Given the description of an element on the screen output the (x, y) to click on. 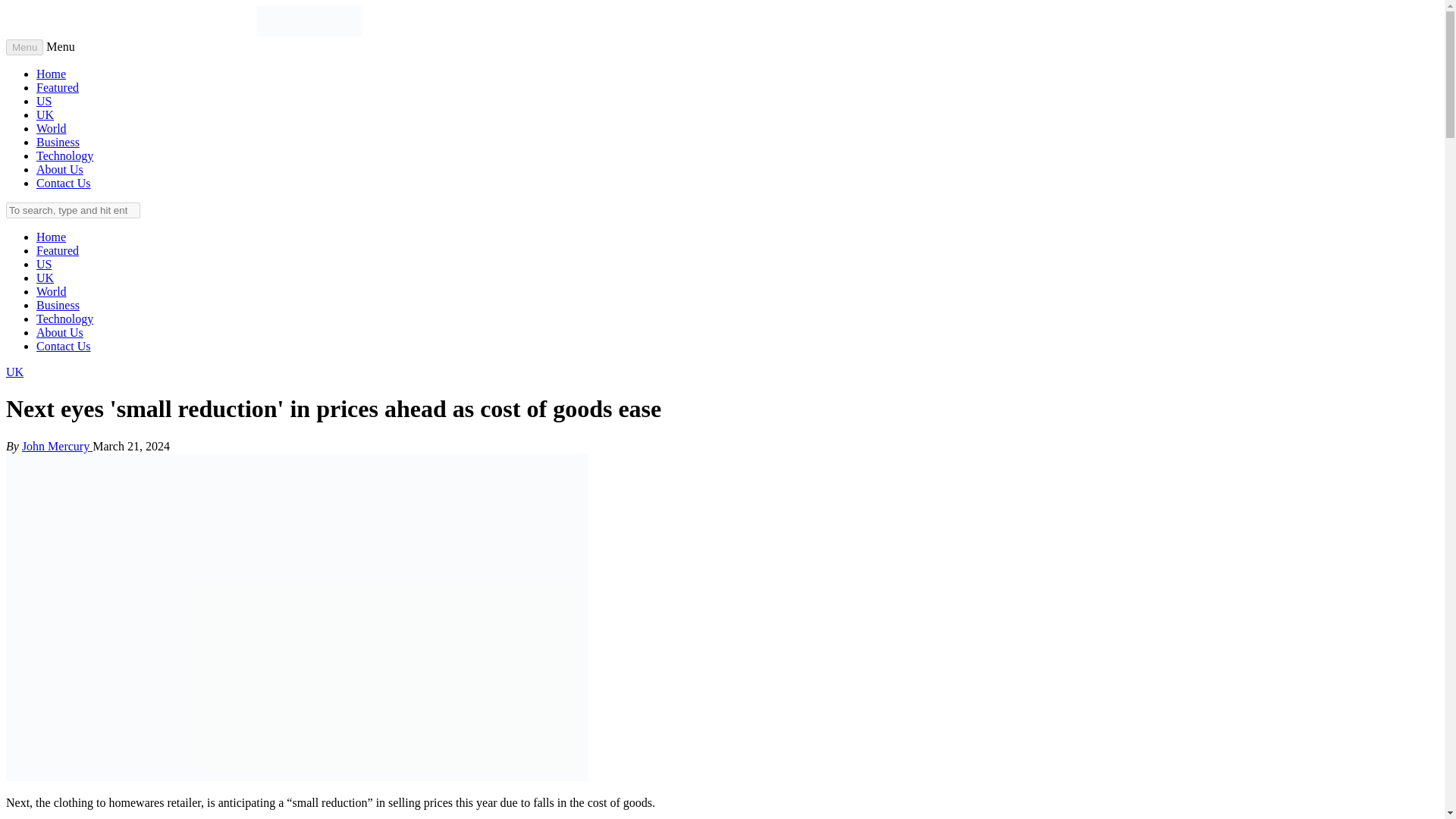
Featured (57, 250)
John Mercury (57, 445)
Monday Newspaper (308, 31)
Technology (64, 318)
About Us (59, 332)
Technology (64, 155)
About Us (59, 169)
Home (50, 73)
US (43, 101)
US (43, 264)
John Mercury (57, 445)
Contact Us (63, 182)
Business (58, 141)
UK (44, 277)
World (51, 291)
